Given the description of an element on the screen output the (x, y) to click on. 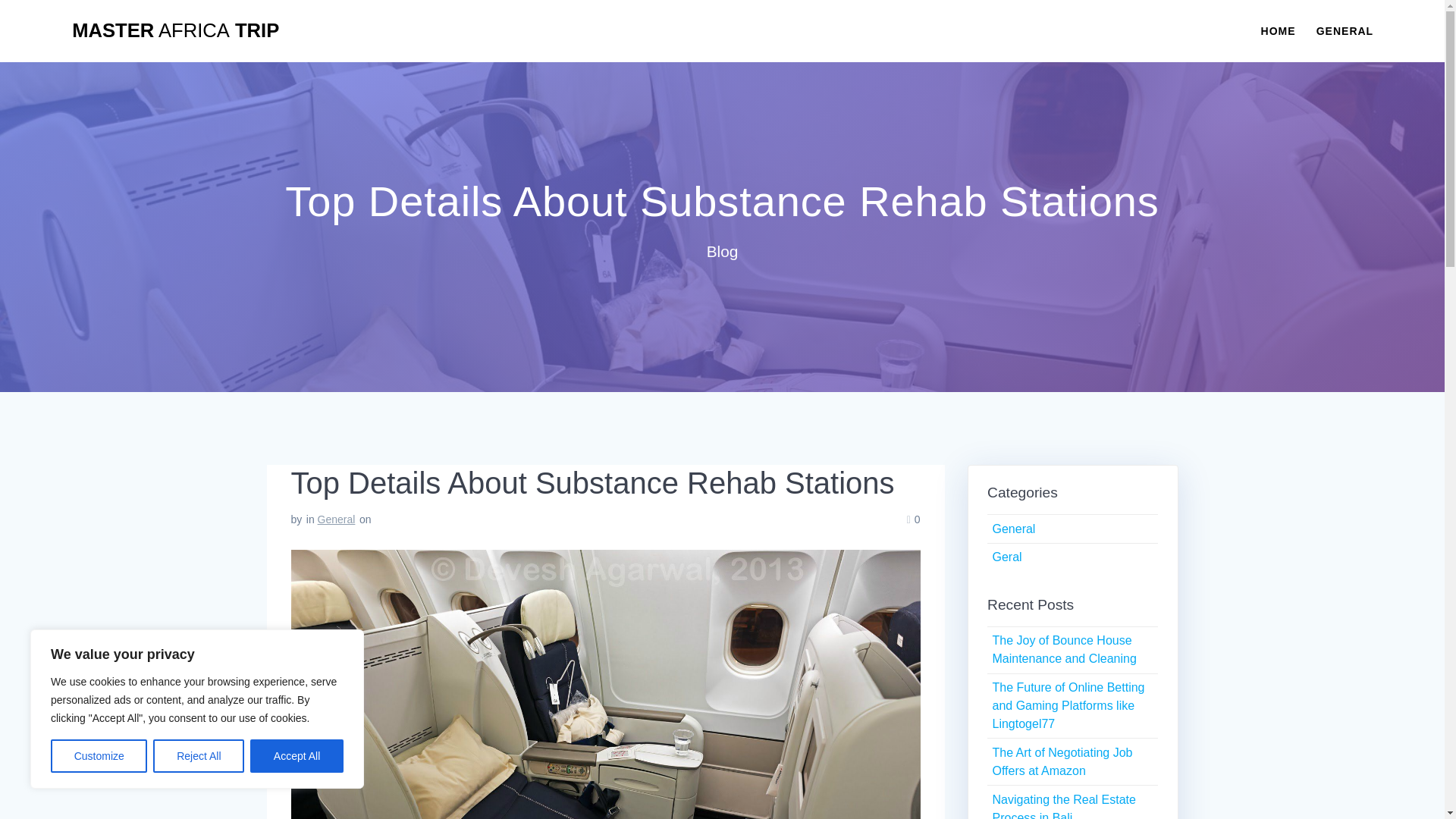
The Joy of Bounce House Maintenance and Cleaning (1063, 649)
Geral (1006, 556)
GENERAL (1344, 30)
Reject All (198, 756)
General (1013, 528)
Navigating the Real Estate Process in Bali (1063, 806)
General (336, 519)
HOME (1277, 30)
The Art of Negotiating Job Offers at Amazon (1061, 761)
Accept All (296, 756)
Customize (98, 756)
MASTER AFRICA TRIP (175, 30)
